Given the description of an element on the screen output the (x, y) to click on. 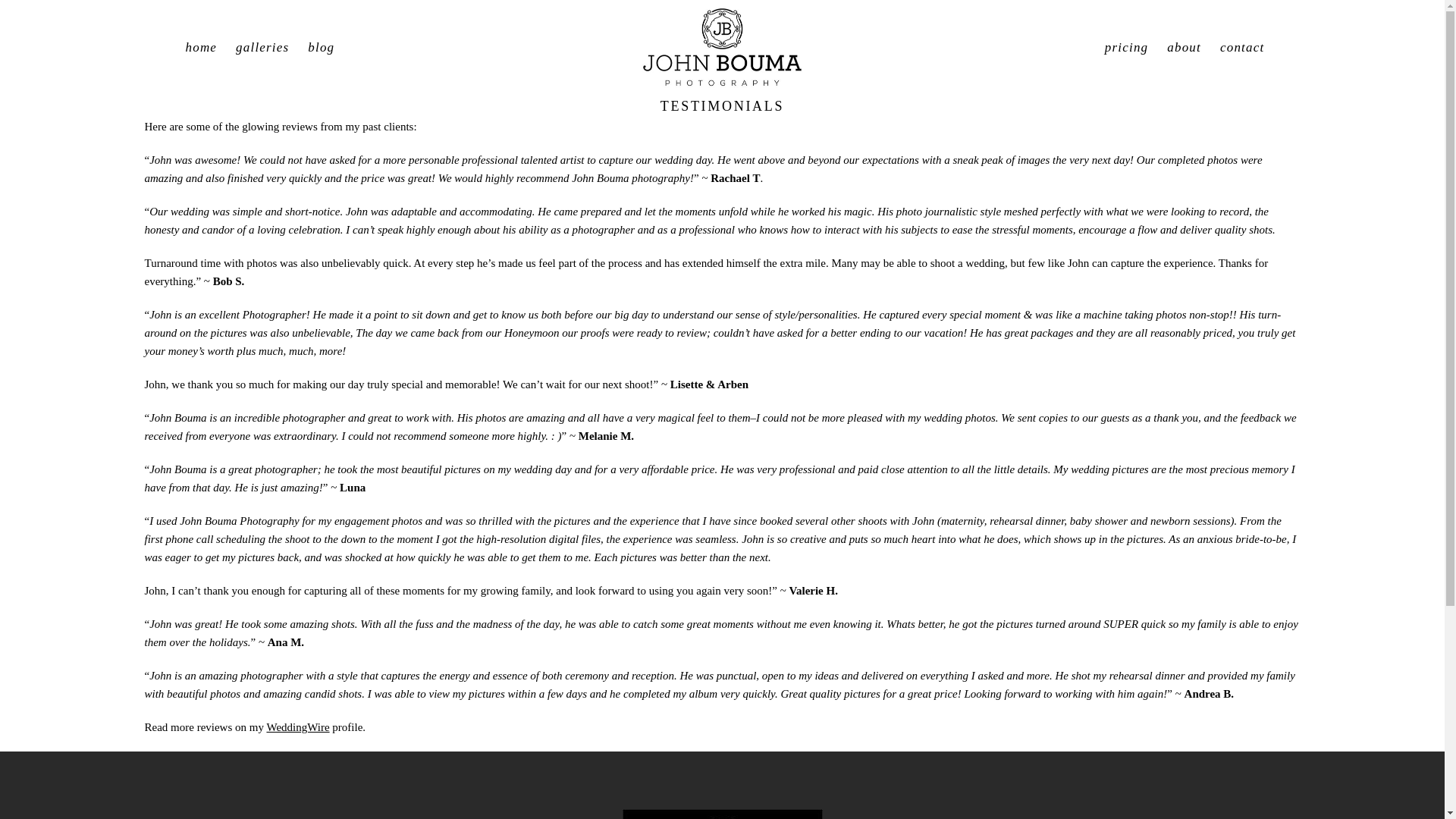
contact (1241, 47)
pricing (1126, 47)
WeddingWire (297, 727)
blog (320, 47)
home (200, 47)
about (1184, 47)
